Given the description of an element on the screen output the (x, y) to click on. 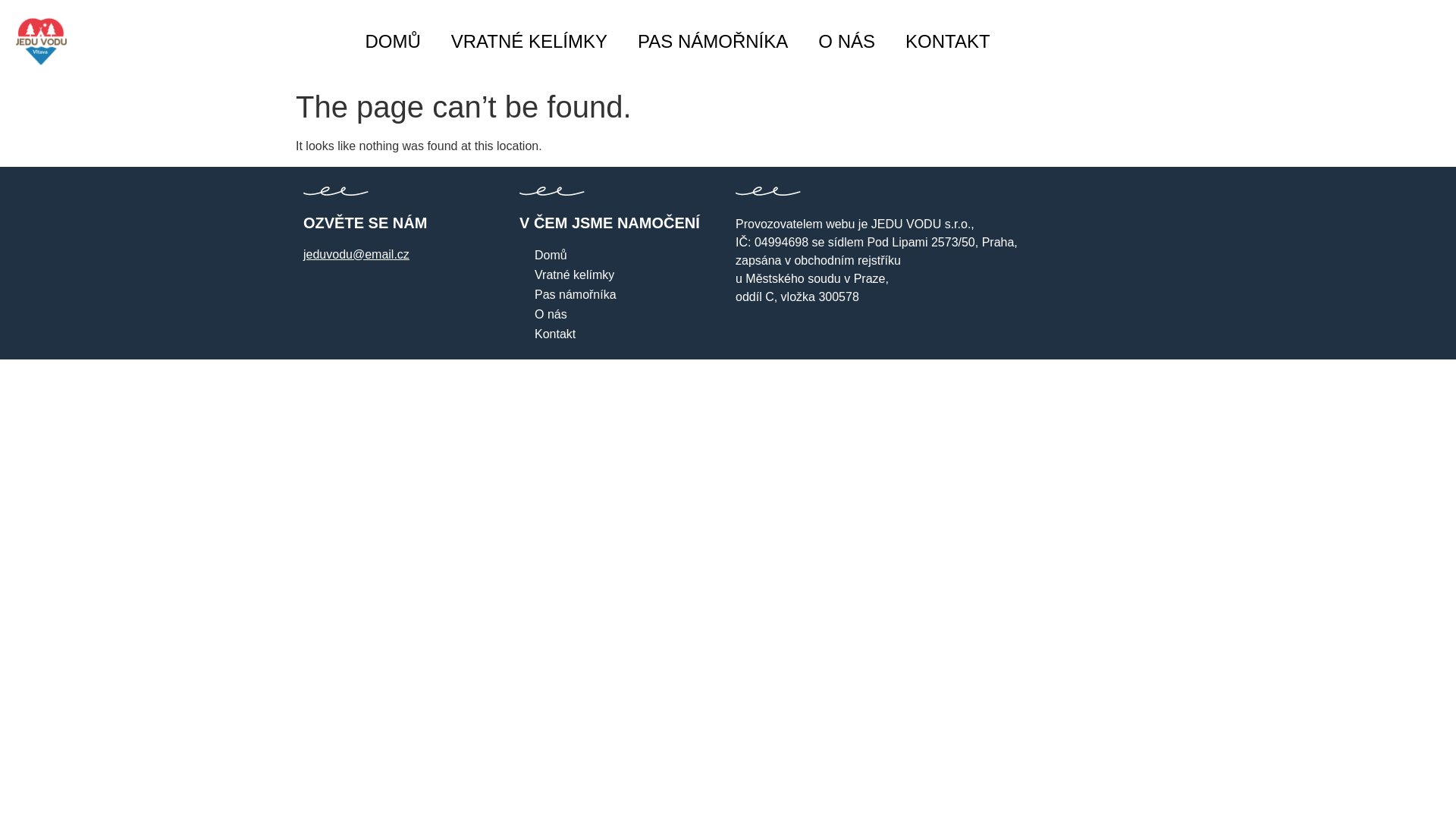
Kontakt (619, 333)
KONTAKT (947, 41)
